Given the description of an element on the screen output the (x, y) to click on. 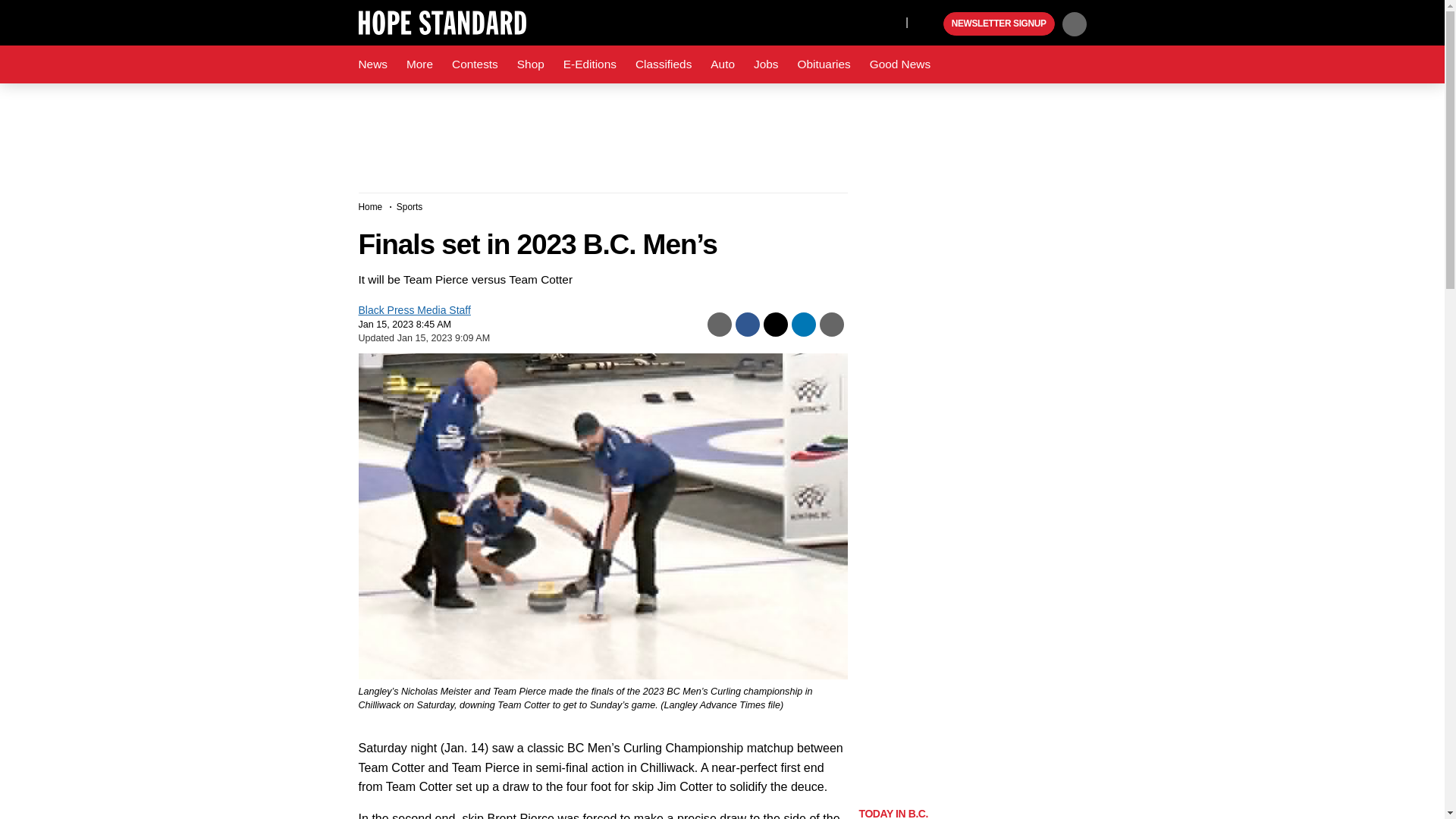
X (889, 21)
Black Press Media (929, 24)
Play (929, 24)
NEWSLETTER SIGNUP (998, 24)
News (372, 64)
